Given the description of an element on the screen output the (x, y) to click on. 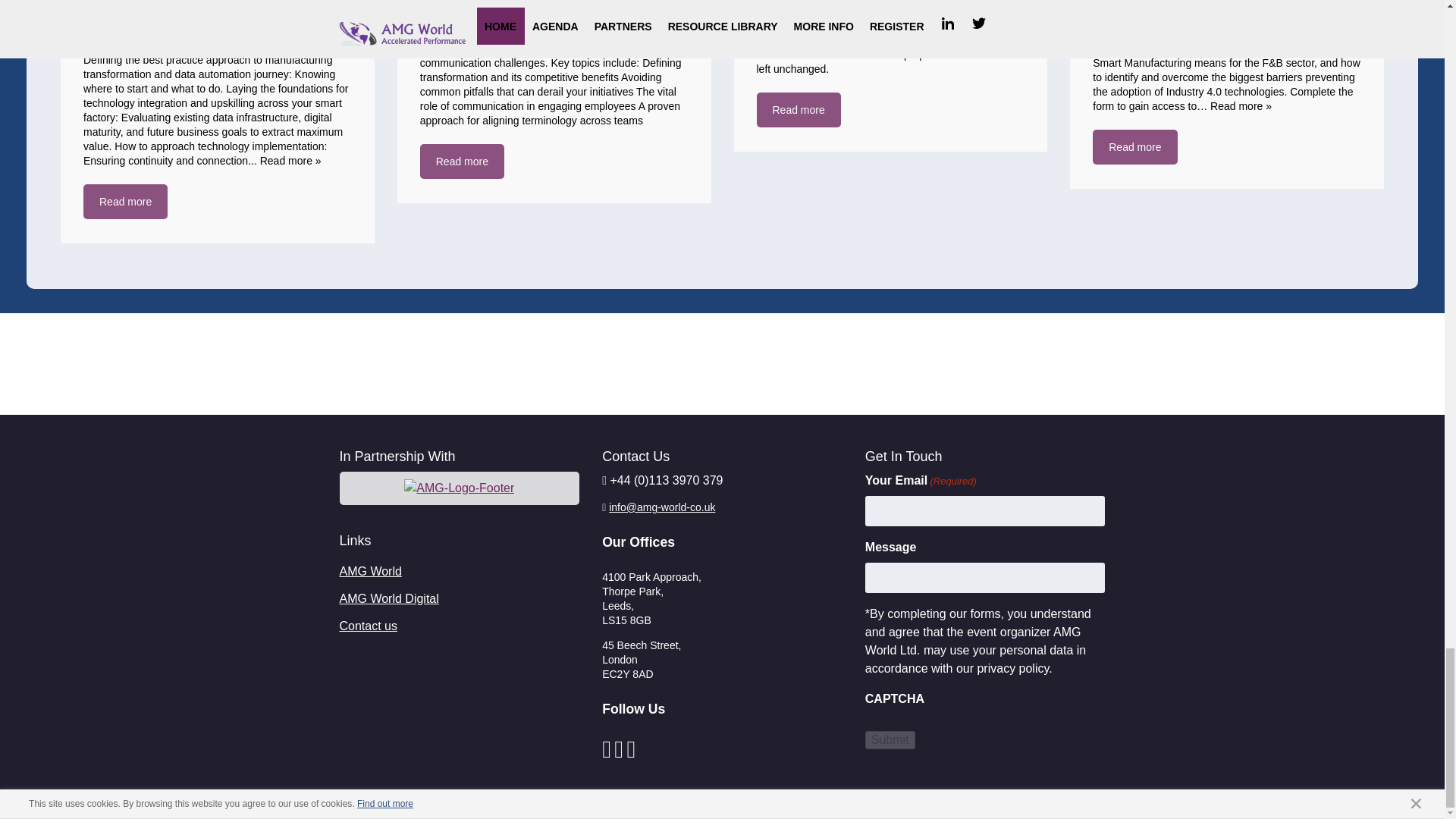
Submit (889, 740)
